Given the description of an element on the screen output the (x, y) to click on. 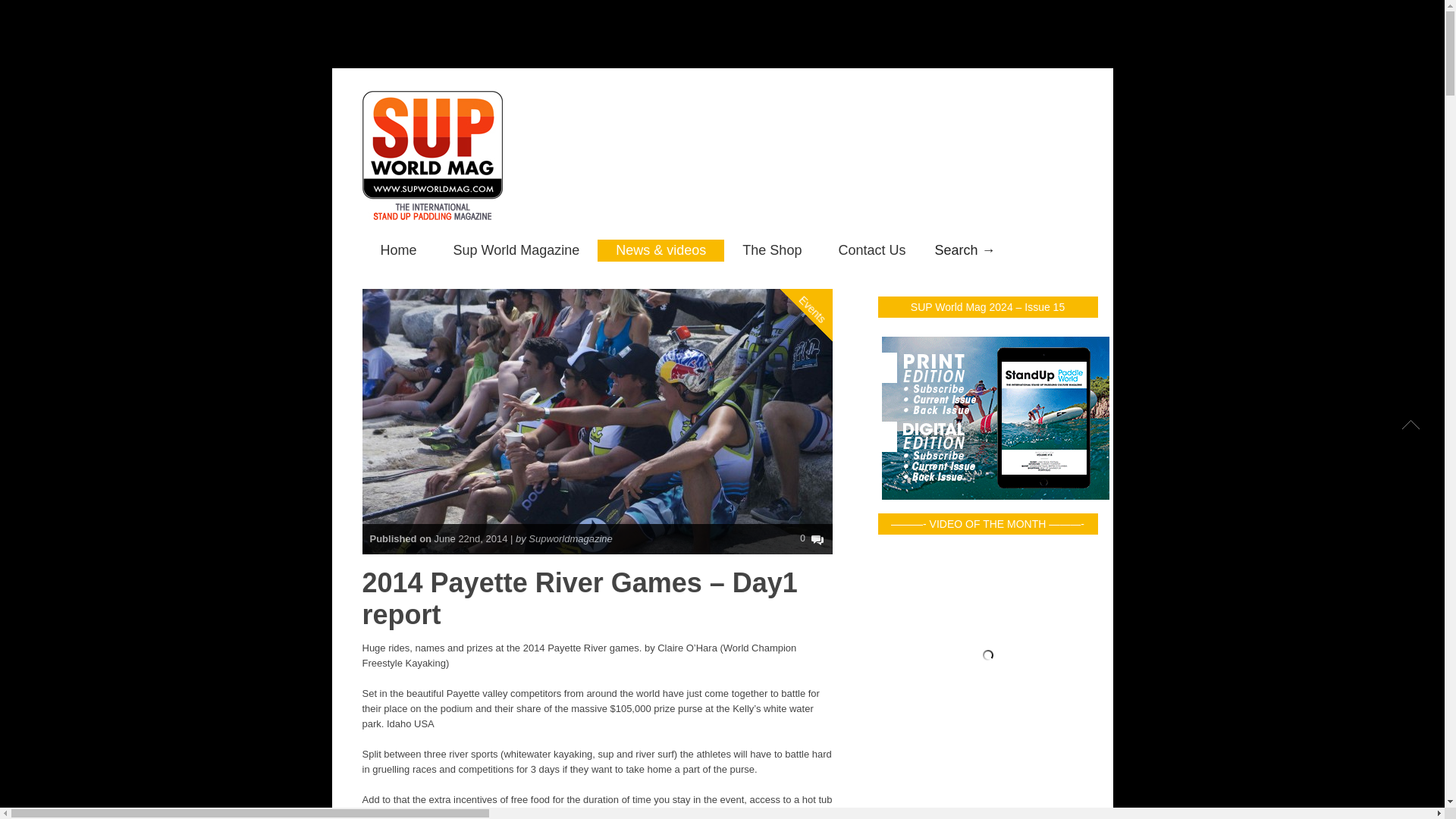
Home (398, 250)
Contact Us (871, 250)
Events (828, 247)
The Shop (771, 250)
Sup World Magazine (516, 250)
